Given the description of an element on the screen output the (x, y) to click on. 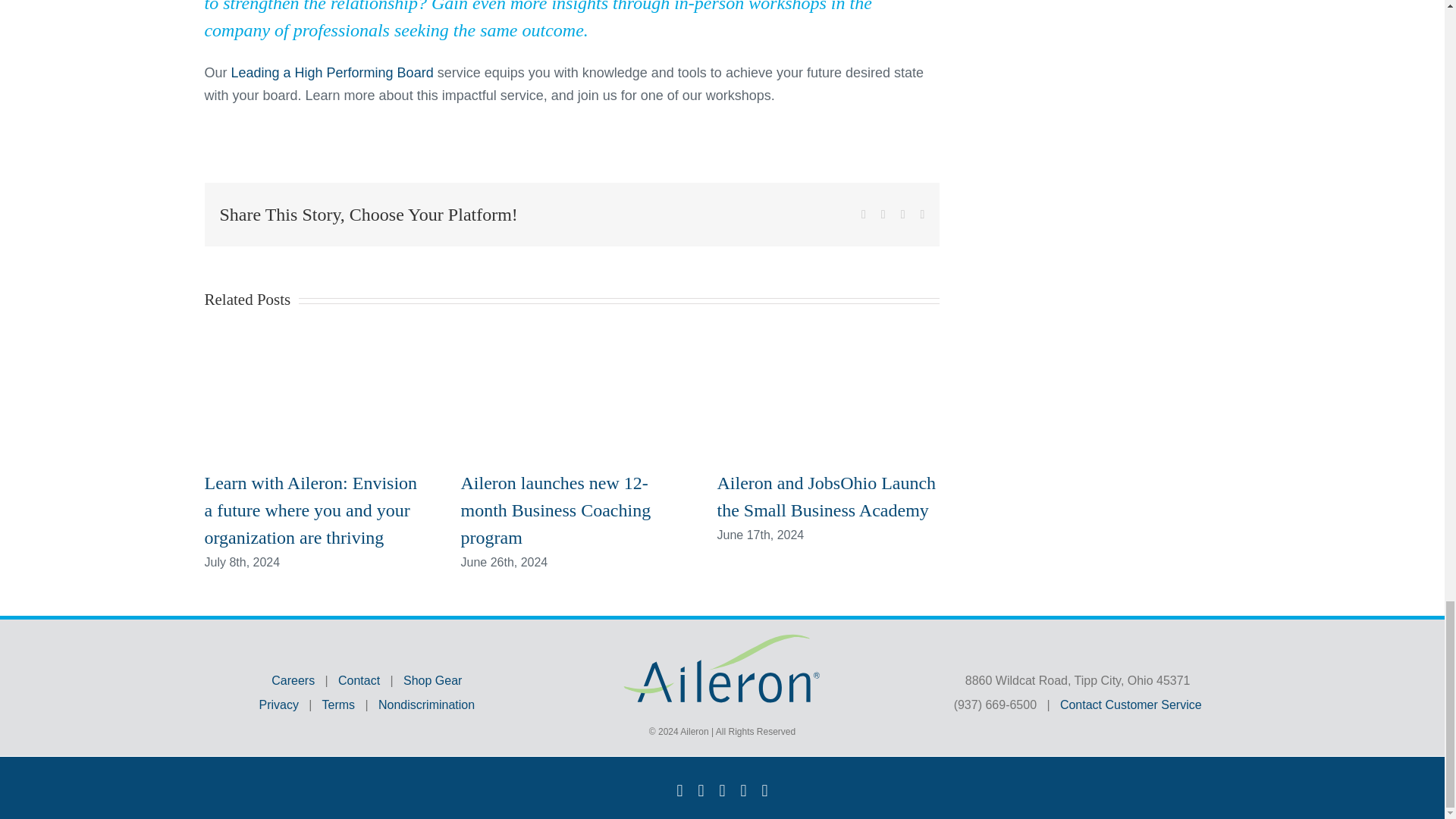
Aileron and JobsOhio Launch the Small Business Academy (826, 496)
Aileron launches new 12-month Business Coaching program (555, 510)
